Given the description of an element on the screen output the (x, y) to click on. 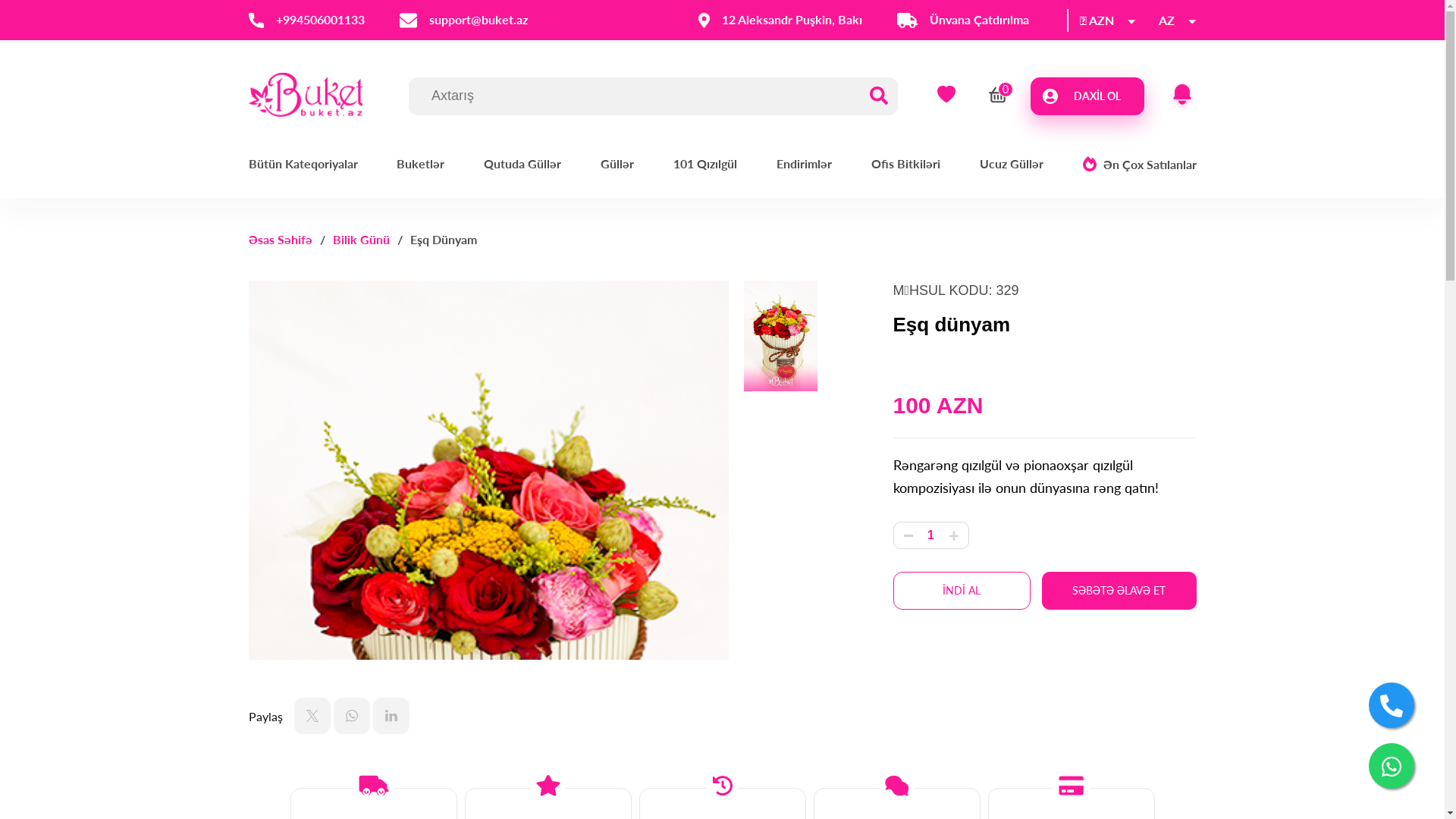
WhatsApp Element type: hover (351, 715)
LinkedIn Element type: hover (391, 715)
Twitter Element type: hover (312, 715)
support@buket.az Element type: text (462, 19)
+994506001133 Element type: text (306, 19)
DAXIL OL Element type: text (1087, 96)
